Given the description of an element on the screen output the (x, y) to click on. 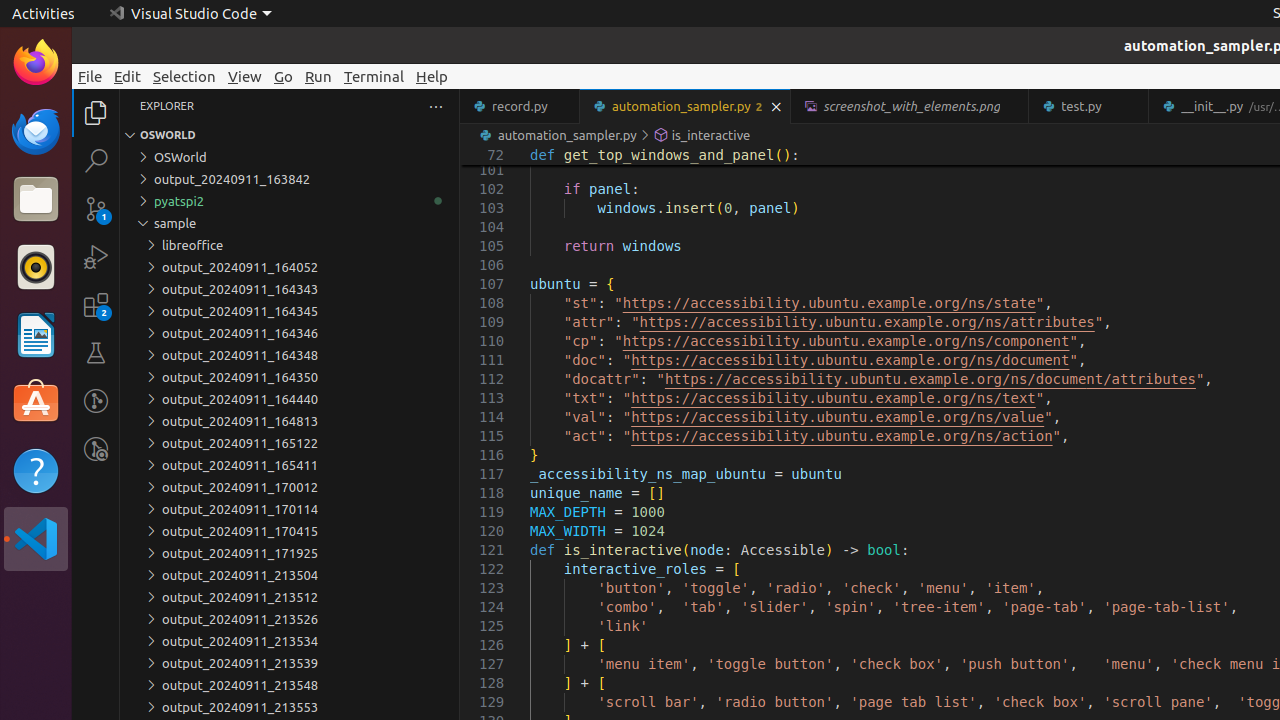
output_20240911_213526 Element type: tree-item (289, 619)
Selection Element type: push-button (184, 76)
output_20240911_213512 Element type: tree-item (289, 597)
output_20240911_213539 Element type: tree-item (289, 663)
